Given the description of an element on the screen output the (x, y) to click on. 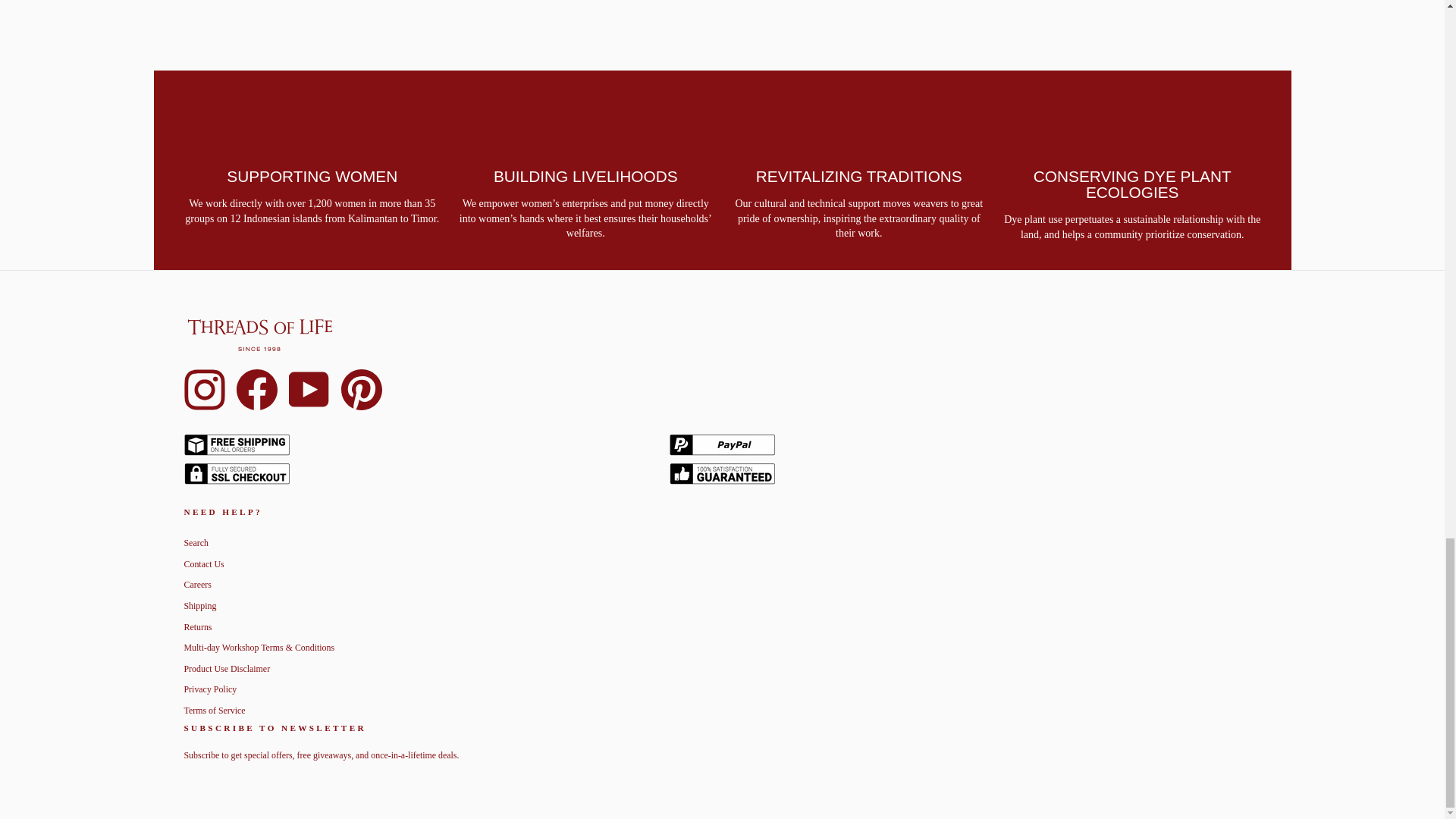
Threads of Life on Facebook (256, 388)
Threads of Life on Instagram (203, 388)
Threads of Life on YouTube (308, 388)
Threads of Life on Pinterest (360, 388)
